Given the description of an element on the screen output the (x, y) to click on. 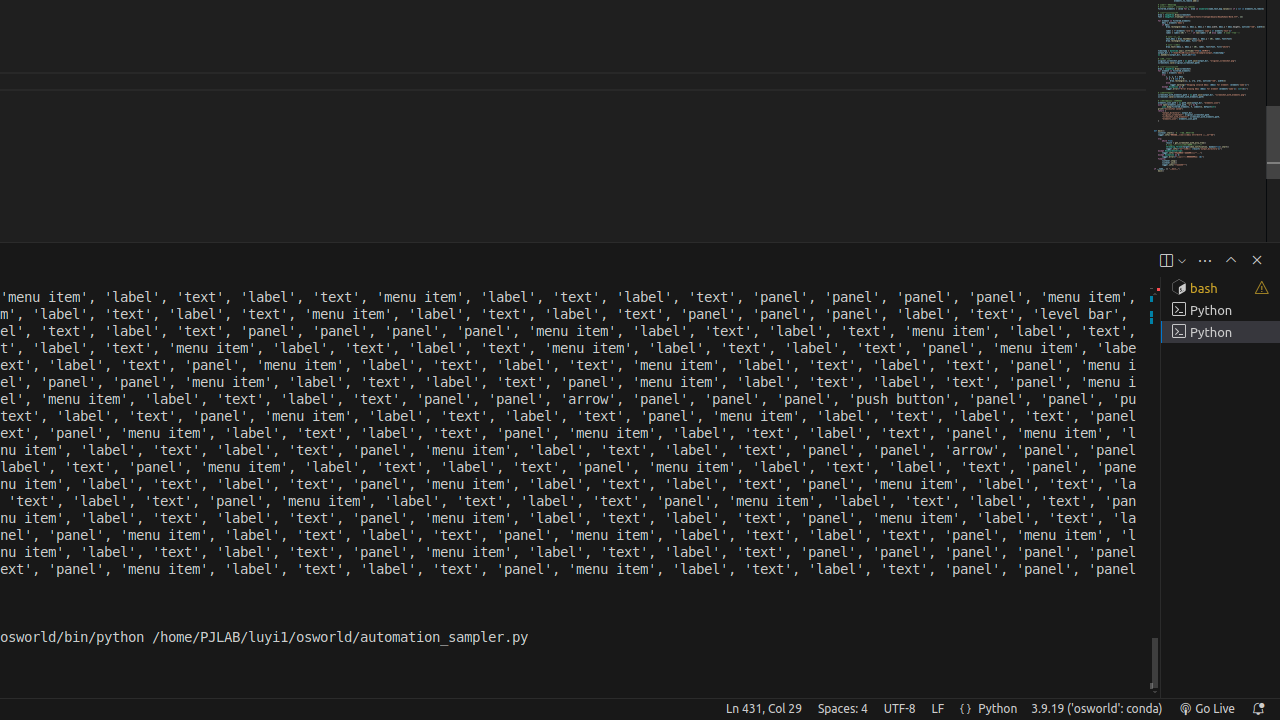
LF Element type: push-button (938, 709)
Notifications Element type: push-button (1258, 709)
Python Element type: push-button (998, 709)
UTF-8 Element type: push-button (899, 709)
Maximize Panel Size Element type: check-box (1231, 260)
